Given the description of an element on the screen output the (x, y) to click on. 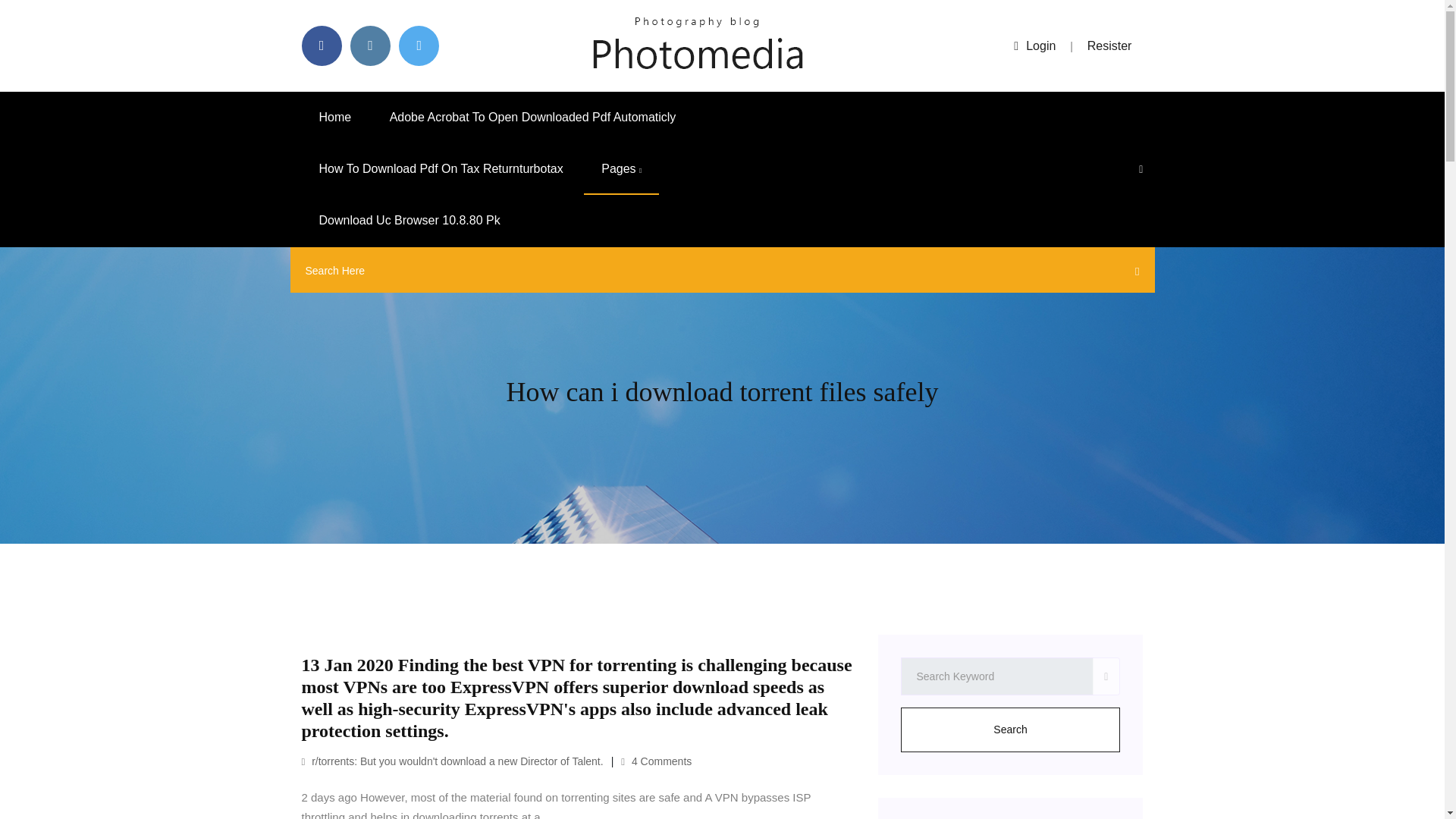
Home (335, 117)
Adobe Acrobat To Open Downloaded Pdf Automaticly (533, 117)
How To Download Pdf On Tax Returnturbotax (440, 168)
Download Uc Browser 10.8.80 Pk (409, 220)
Resister (1109, 45)
Pages (621, 168)
4 Comments (656, 761)
Login (1034, 45)
